Given the description of an element on the screen output the (x, y) to click on. 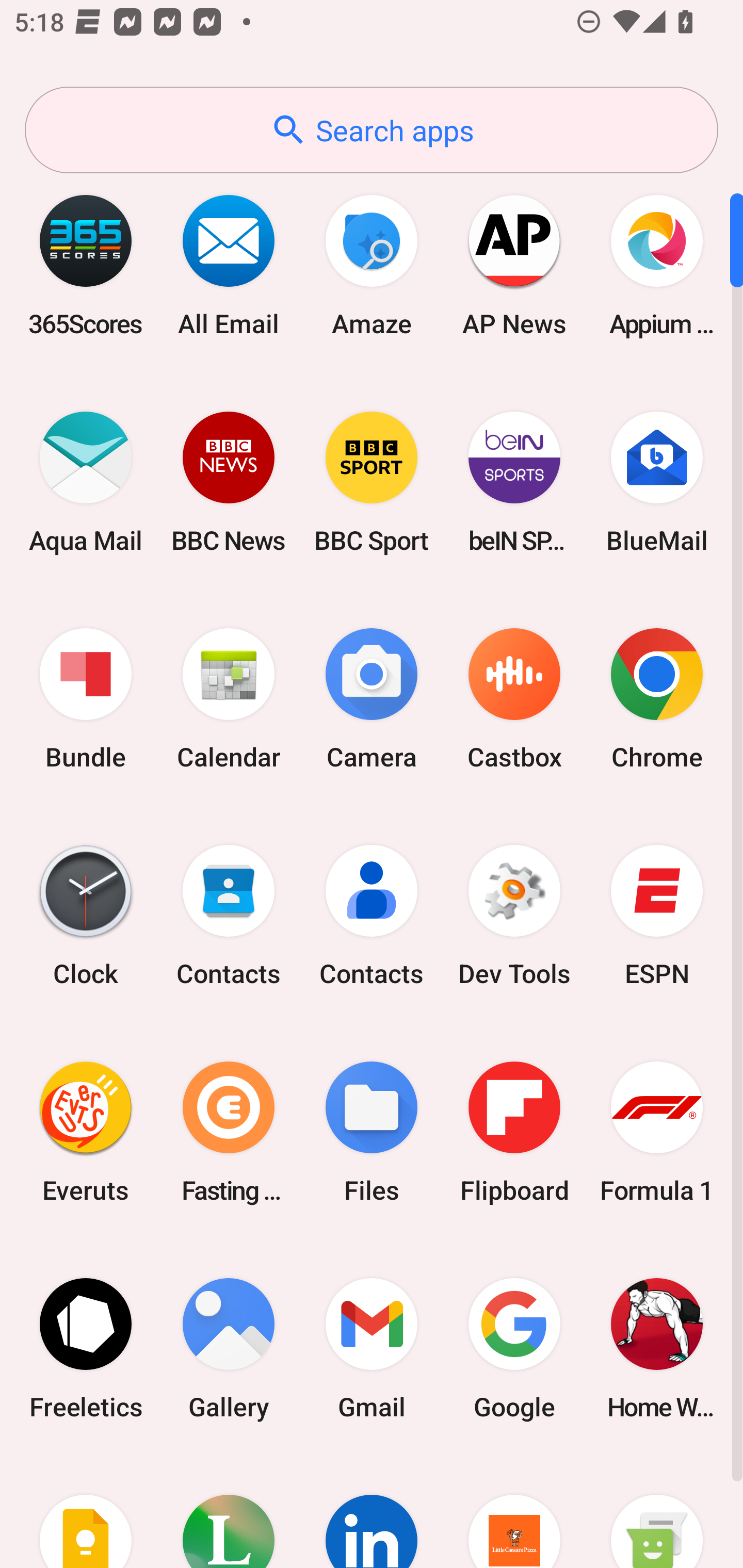
  Search apps (371, 130)
365Scores (85, 264)
All Email (228, 264)
Amaze (371, 264)
AP News (514, 264)
Appium Settings (656, 264)
Aqua Mail (85, 482)
BBC News (228, 482)
BBC Sport (371, 482)
beIN SPORTS (514, 482)
BlueMail (656, 482)
Bundle (85, 699)
Calendar (228, 699)
Camera (371, 699)
Castbox (514, 699)
Chrome (656, 699)
Clock (85, 915)
Contacts (228, 915)
Contacts (371, 915)
Dev Tools (514, 915)
ESPN (656, 915)
Everuts (85, 1131)
Fasting Coach (228, 1131)
Files (371, 1131)
Flipboard (514, 1131)
Formula 1 (656, 1131)
Freeletics (85, 1348)
Gallery (228, 1348)
Gmail (371, 1348)
Google (514, 1348)
Home Workout (656, 1348)
Keep Notes (85, 1512)
Lifesum (228, 1512)
LinkedIn (371, 1512)
Little Caesars Pizza (514, 1512)
Messaging (656, 1512)
